Given the description of an element on the screen output the (x, y) to click on. 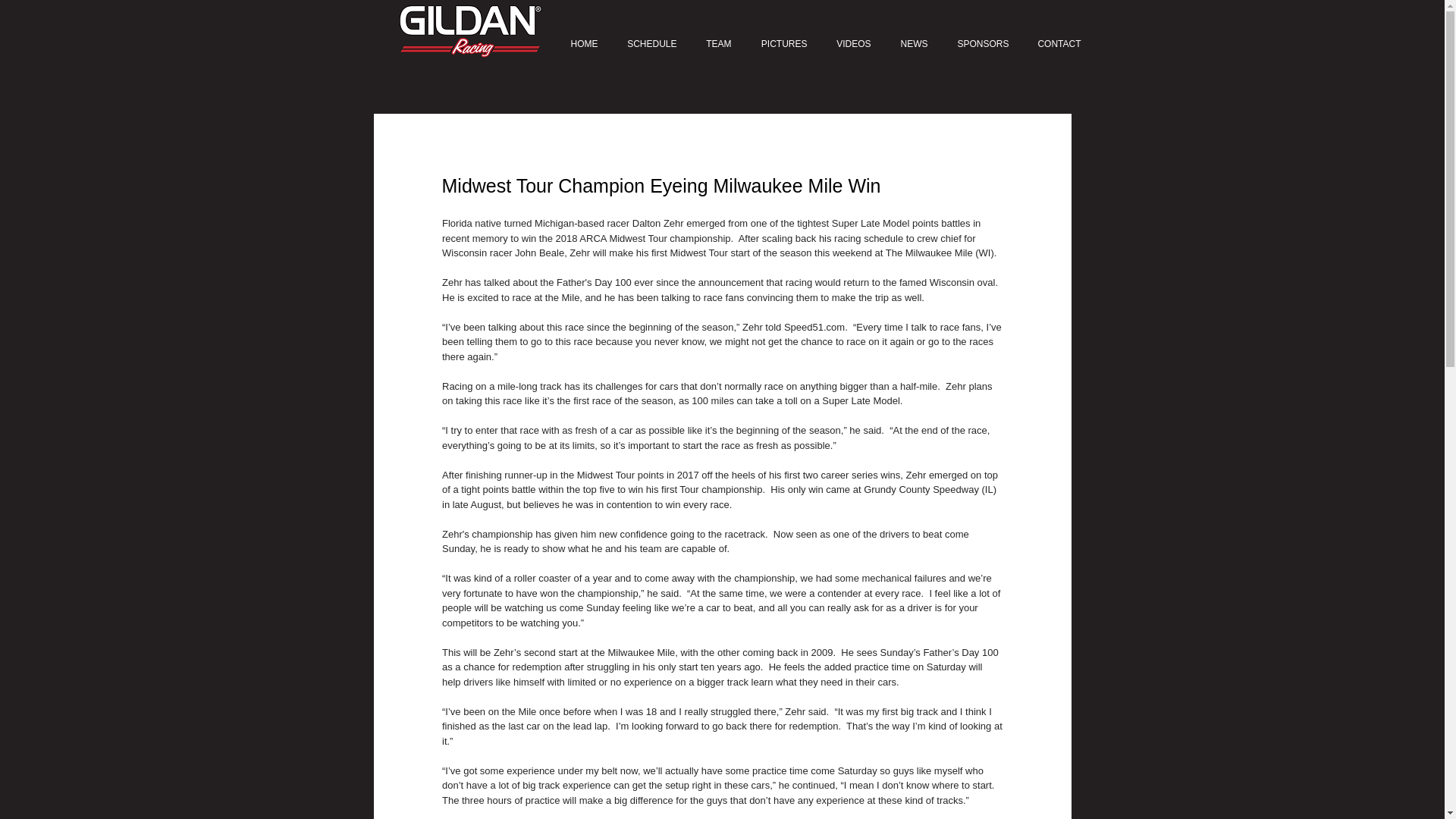
VIDEOS (852, 44)
HOME (581, 44)
CONTACT (1058, 44)
NEWS (911, 44)
SPONSORS (981, 44)
SCHEDULE (650, 44)
PICTURES (782, 44)
Beale Racing.jpg (469, 30)
TEAM (717, 44)
